Given the description of an element on the screen output the (x, y) to click on. 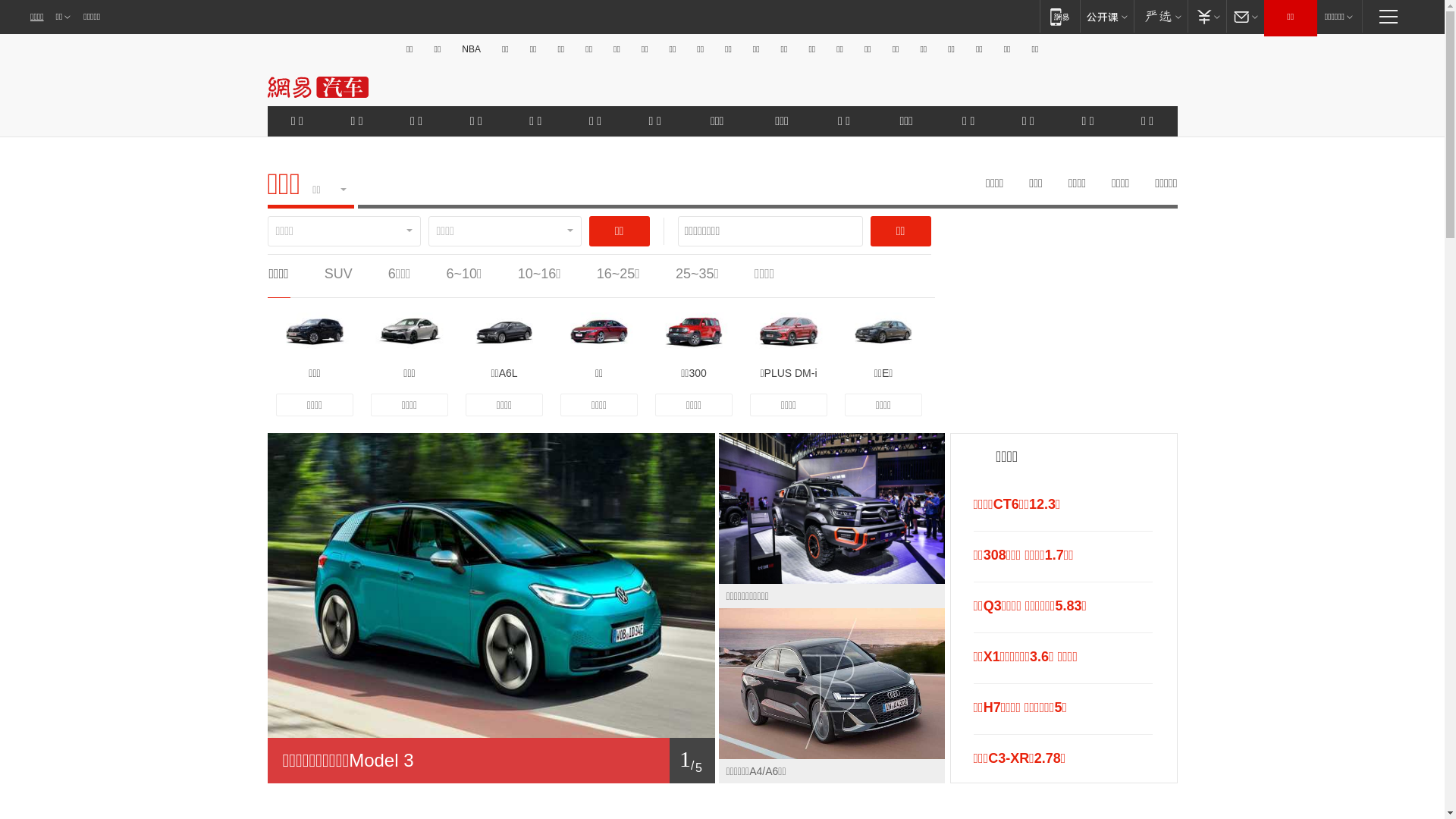
NBA Element type: text (471, 48)
1/ 5 Element type: text (490, 760)
SUV Element type: text (338, 273)
